Given the description of an element on the screen output the (x, y) to click on. 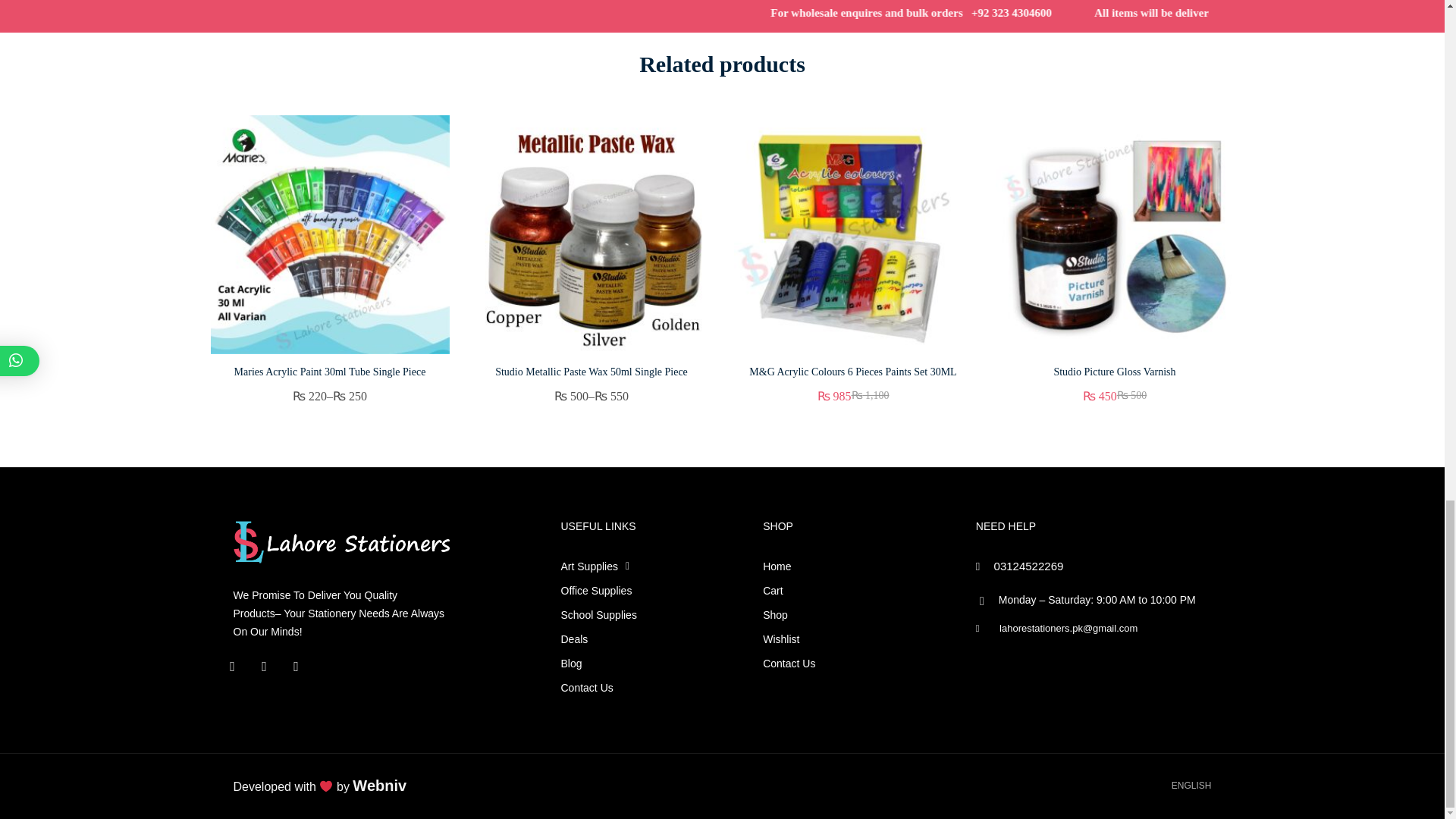
Submit (406, 4)
